Given the description of an element on the screen output the (x, y) to click on. 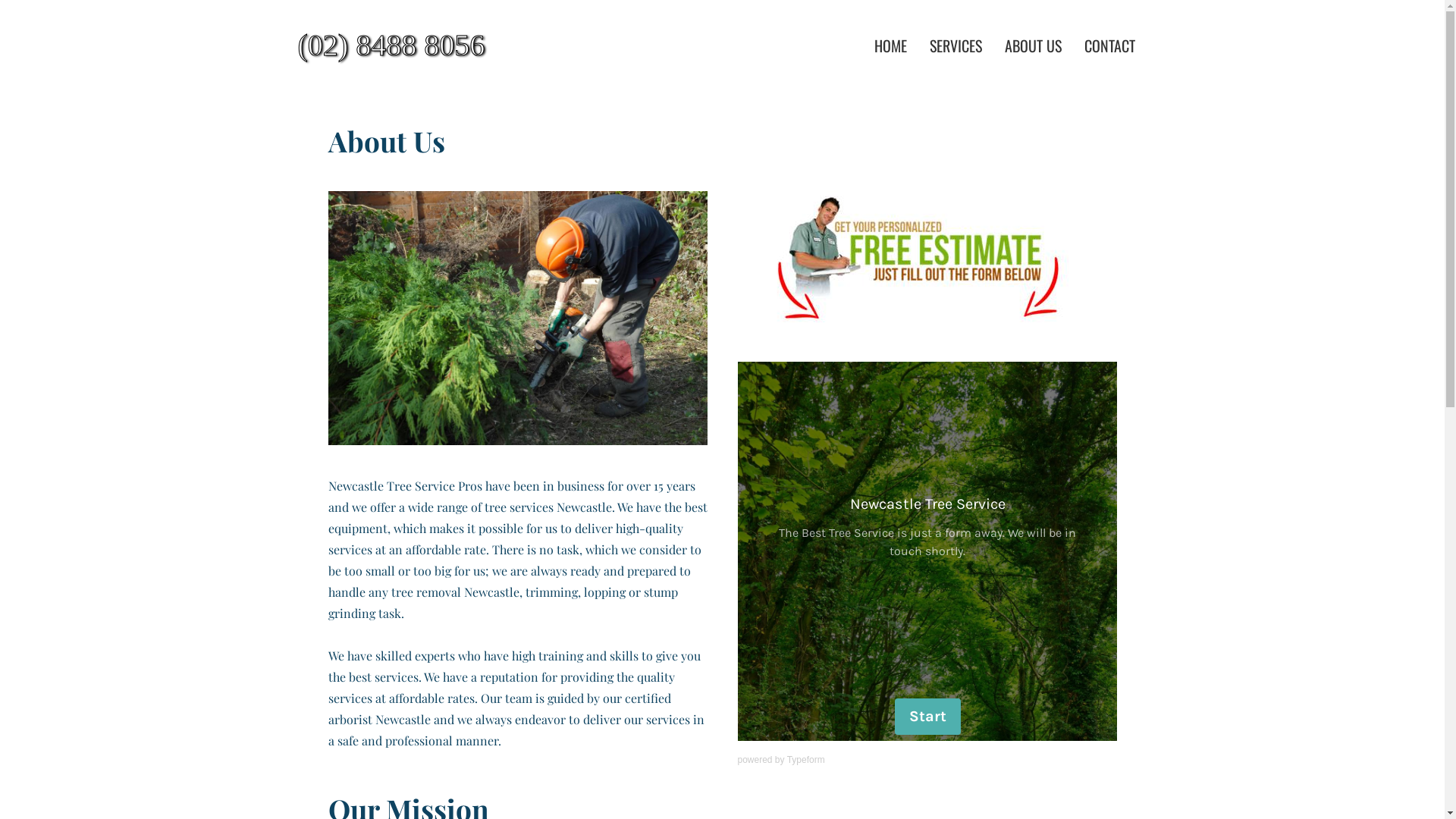
tree-removal-newcastle Element type: hover (516, 318)
SERVICES Element type: text (955, 45)
(02) 8488 8056 Element type: text (432, 45)
ABOUT US Element type: text (1033, 45)
typeform-embed Element type: hover (926, 550)
CONTACT Element type: text (1109, 45)
Typeform Element type: text (806, 759)
HOME Element type: text (890, 45)
Free Quote Element type: hover (926, 261)
